Given the description of an element on the screen output the (x, y) to click on. 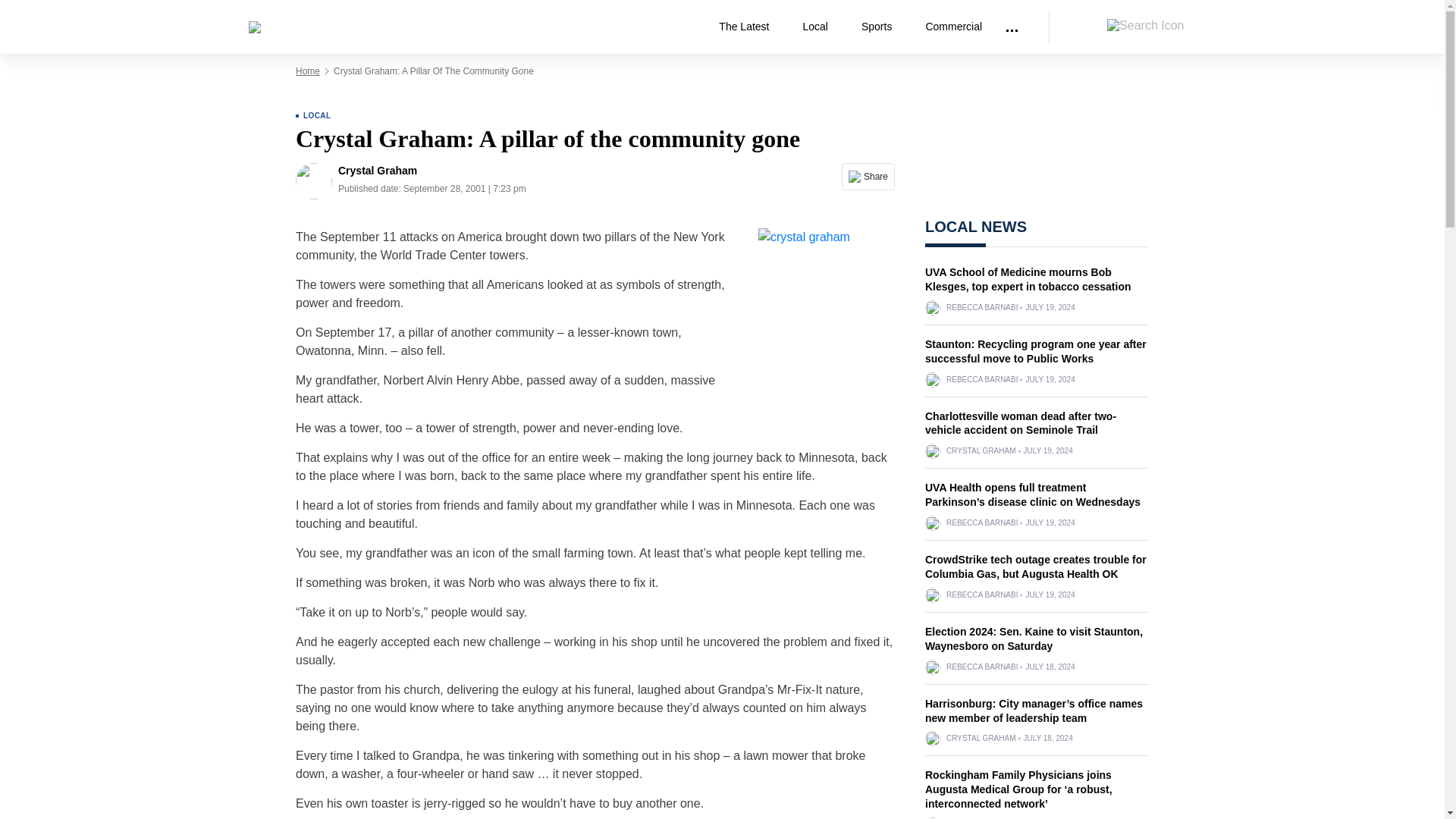
The Latest (749, 27)
Local (821, 27)
Sports (882, 27)
Commercial (953, 27)
